Given the description of an element on the screen output the (x, y) to click on. 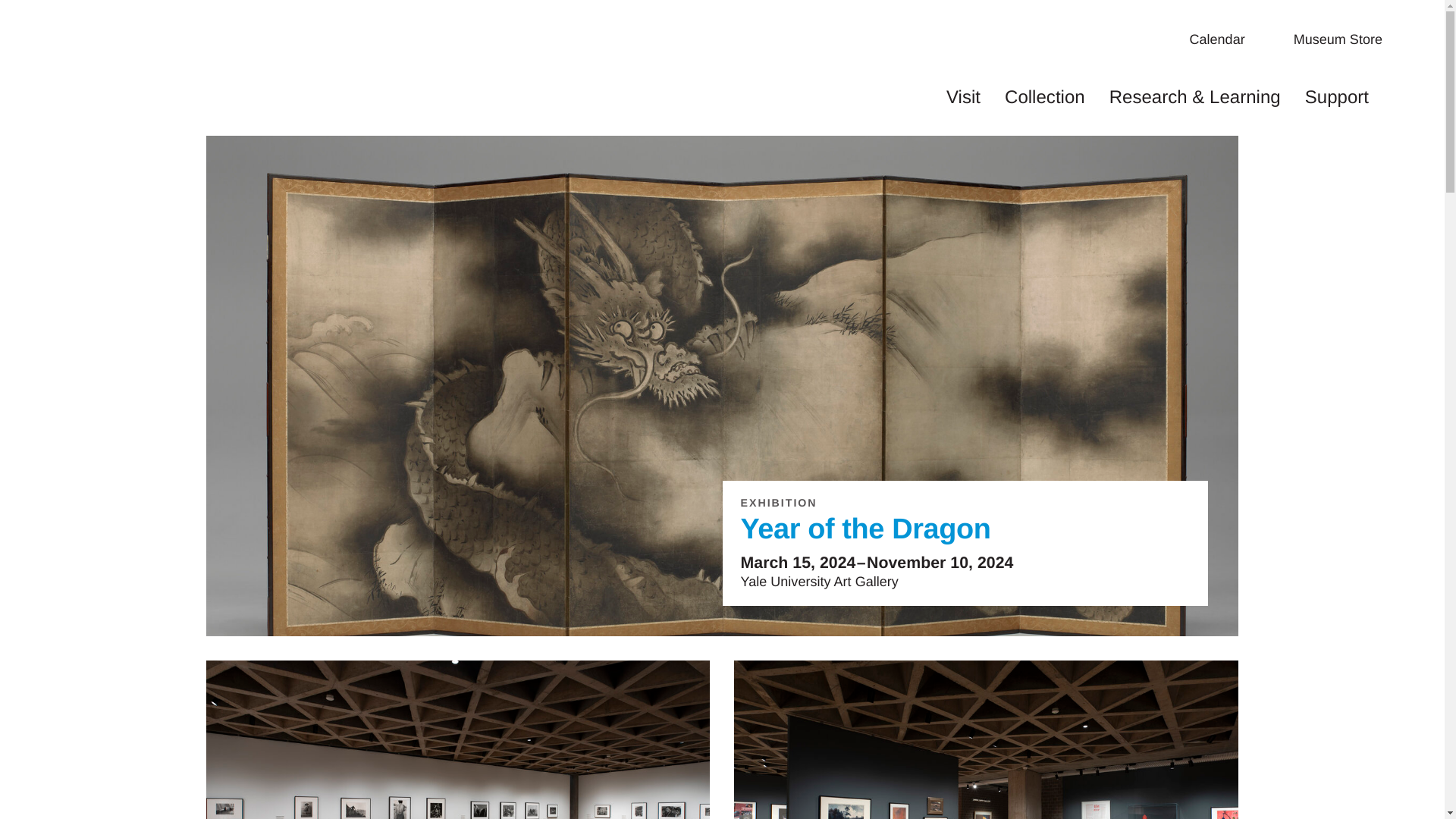
Museum Store (1350, 39)
Collection (1044, 97)
OPEN SEARCH (1396, 95)
Go to Yale University Art Gallery home page (79, 97)
Go to Yale University Art Gallery home page (79, 66)
Visit (962, 97)
Support (1336, 97)
Calendar (1228, 39)
SKIP TO CONTENT (722, 1)
